Given the description of an element on the screen output the (x, y) to click on. 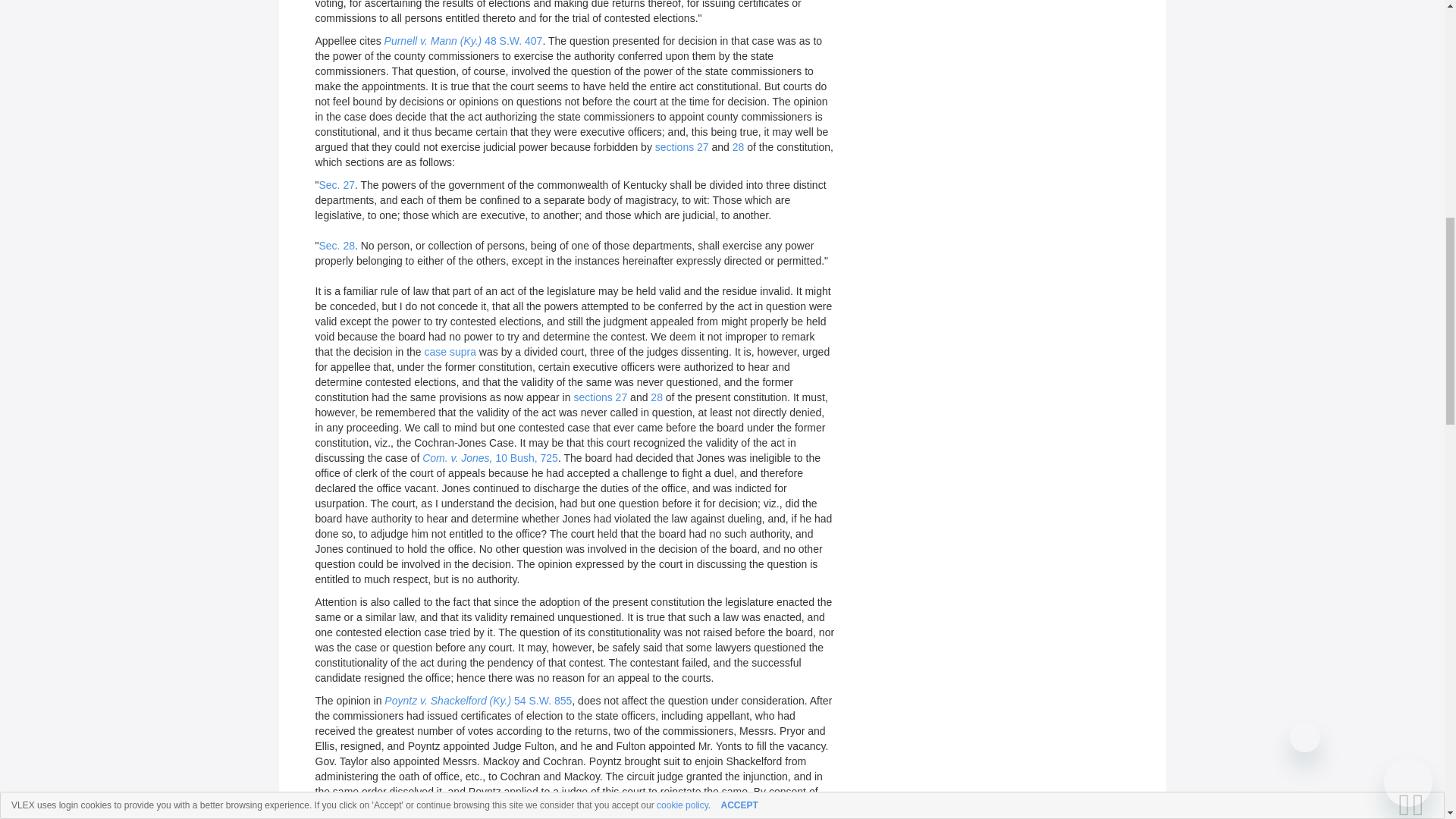
28 (656, 397)
sections 27 (600, 397)
sections 27 (682, 146)
Com. v. Jones, 10 Bush, 725 (489, 458)
Sec. 28 (335, 245)
Sec. 27 (335, 184)
28 (738, 146)
case supra (450, 351)
